Given the description of an element on the screen output the (x, y) to click on. 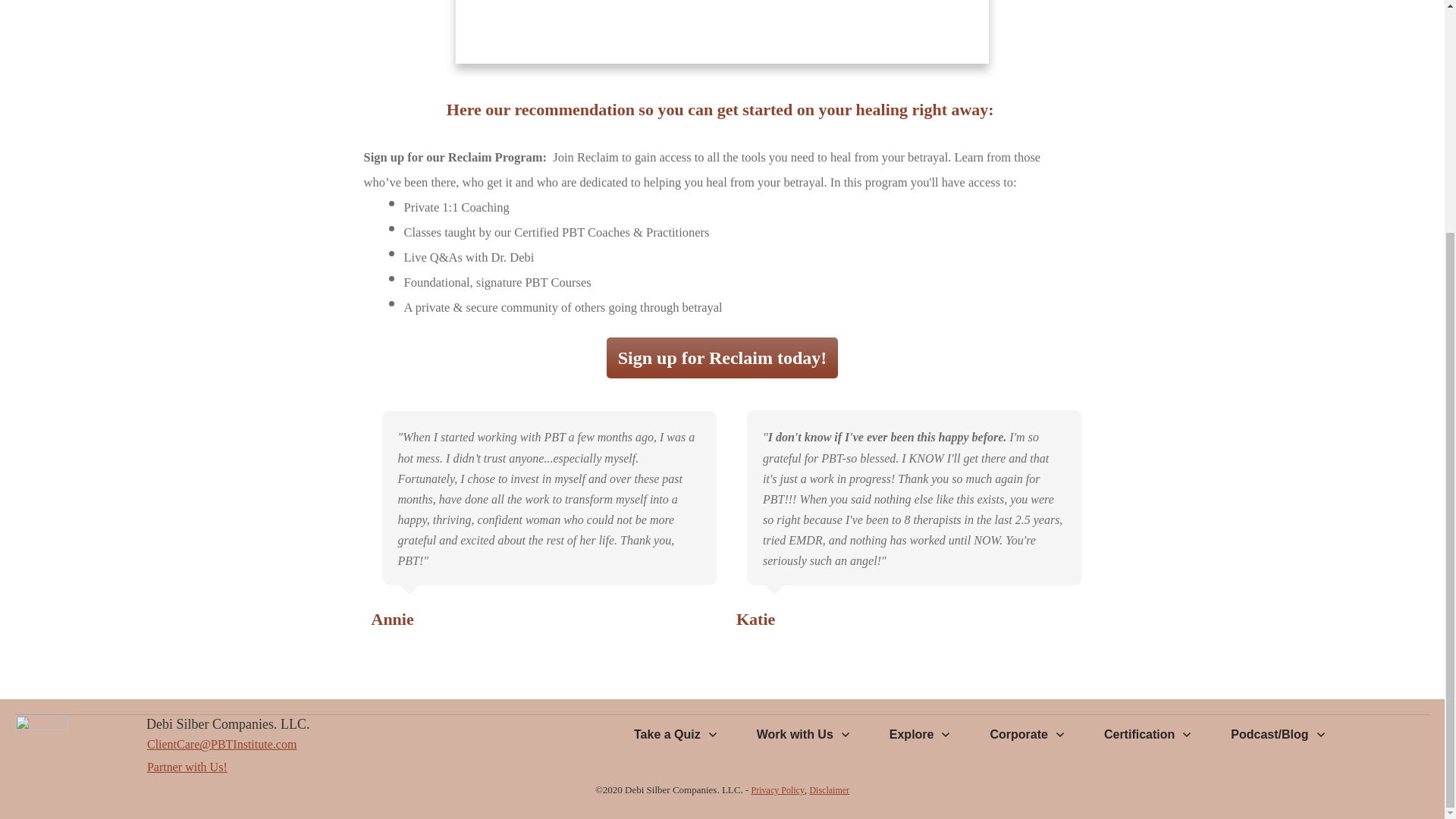
Explore (920, 734)
Certification (1147, 734)
Sign up for Reclaim today! (722, 357)
Responsive Video (722, 31)
Partner with Us! (187, 766)
Work with Us (804, 734)
Take a Quiz (676, 734)
Corporate (1027, 734)
